Given the description of an element on the screen output the (x, y) to click on. 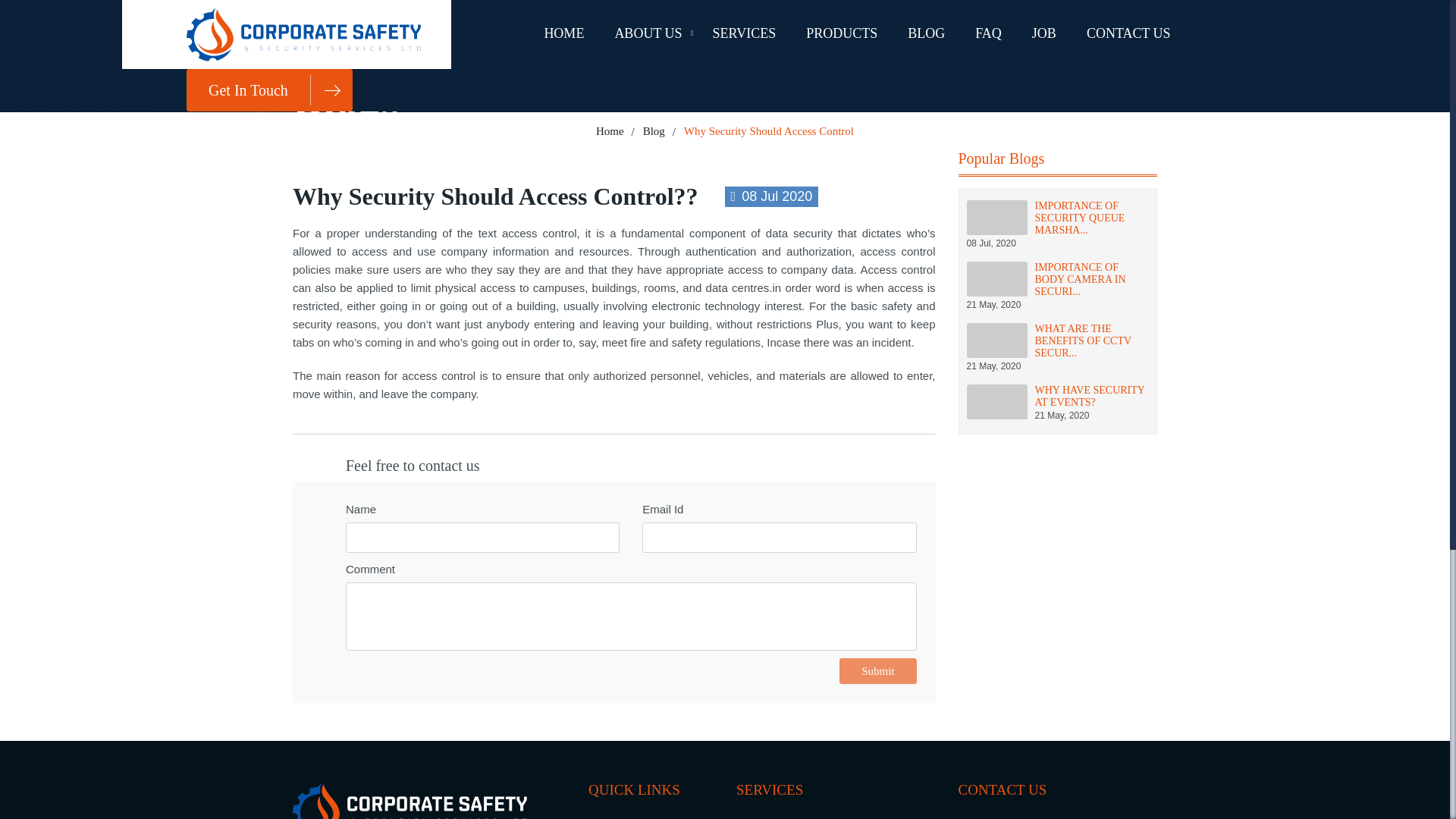
CONTACT US (1057, 286)
Home (1128, 34)
PRODUCTS (609, 130)
Get In Touch (841, 34)
Importance Of Security Queue Marshalling (269, 89)
Why Have Security At Events? (1057, 224)
What Are The Benefits Of CCTV Security Systems? (1057, 347)
FAQ (1057, 403)
BLOG (1057, 347)
Blog (987, 34)
ABOUT US (925, 34)
SERVICES (654, 130)
